Given the description of an element on the screen output the (x, y) to click on. 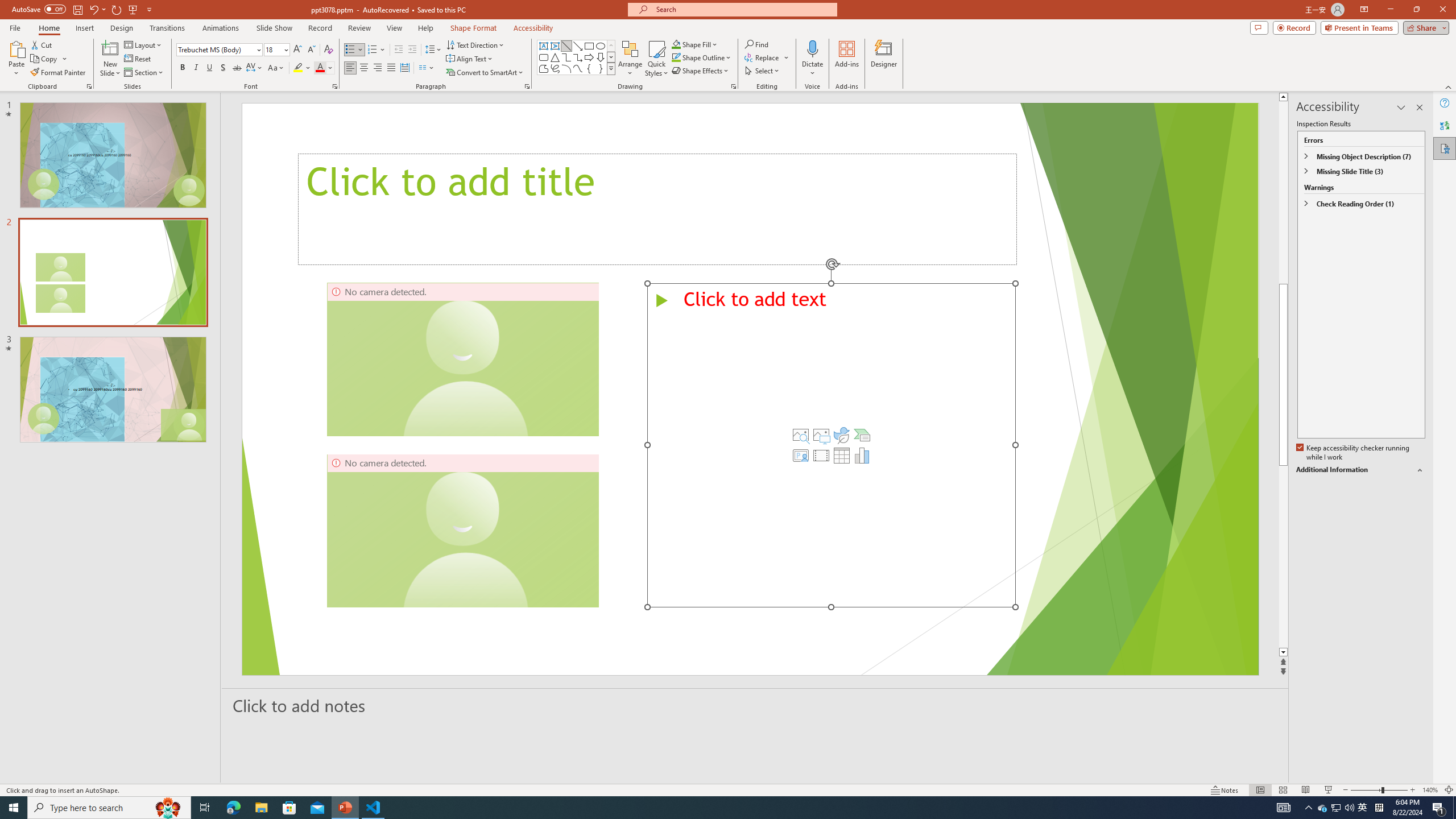
Insert Cameo (800, 455)
Insert a SmartArt Graphic (861, 434)
Insert Table (841, 455)
